Given the description of an element on the screen output the (x, y) to click on. 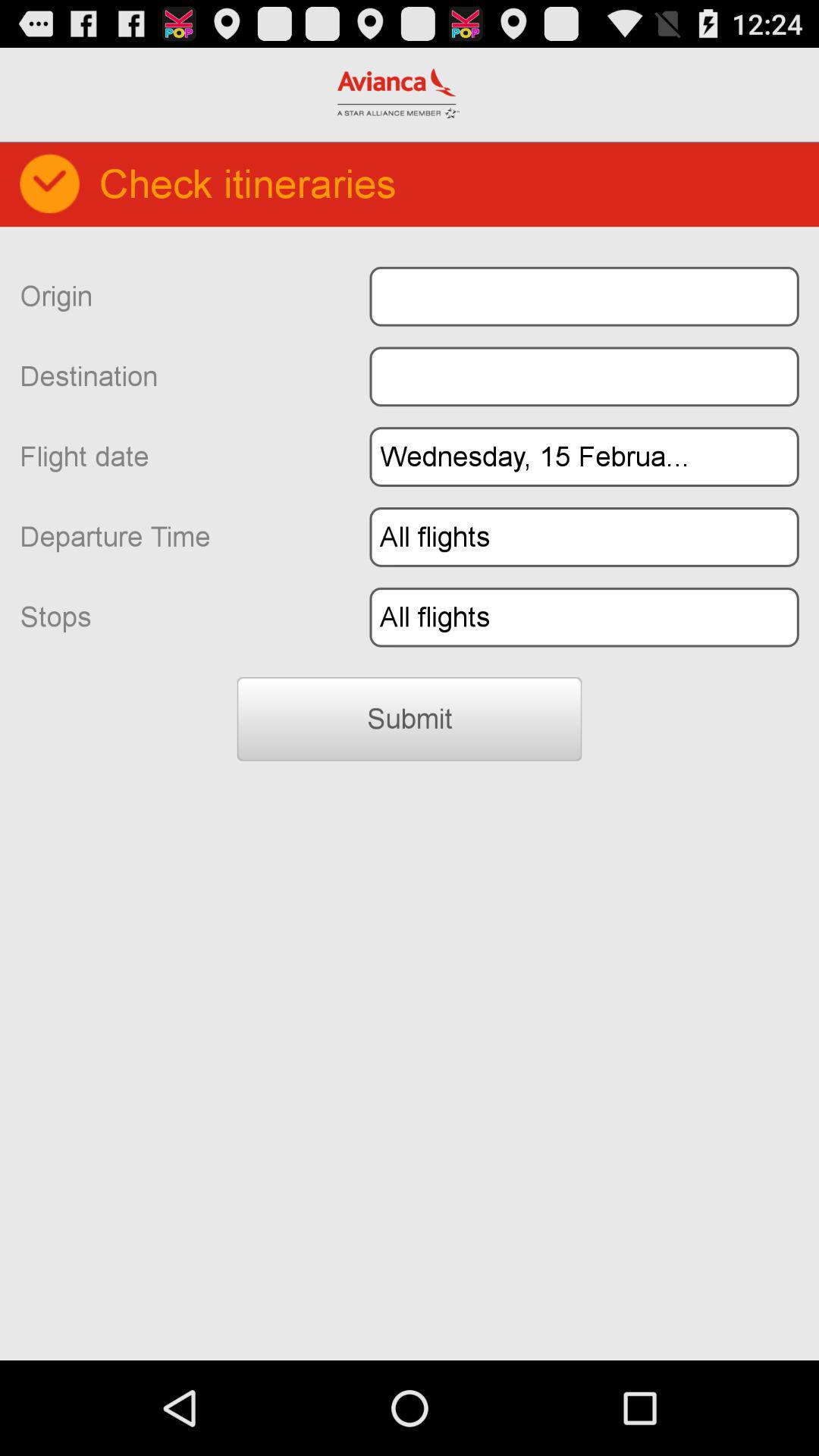
choose app next to flight date app (584, 456)
